Given the description of an element on the screen output the (x, y) to click on. 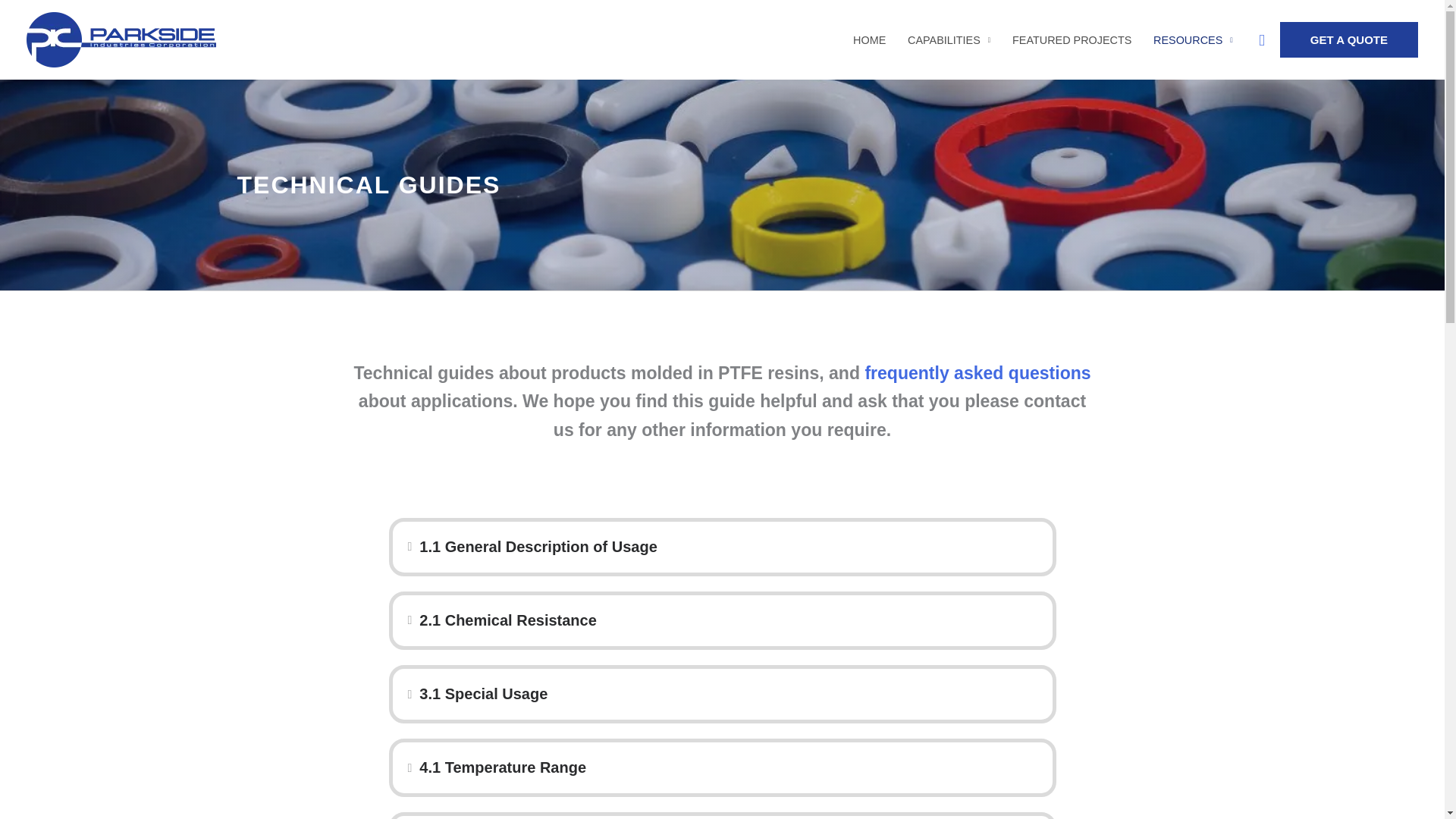
CAPABILITIES (948, 39)
frequently asked questions (977, 373)
2.1 Chemical Resistance (727, 620)
RESOURCES (1192, 39)
3.1 Special Usage (727, 694)
GET A QUOTE (1348, 40)
1.1 General Description of Usage (727, 547)
4.1 Temperature Range (727, 767)
FEATURED PROJECTS (1071, 39)
HOME (869, 39)
